Given the description of an element on the screen output the (x, y) to click on. 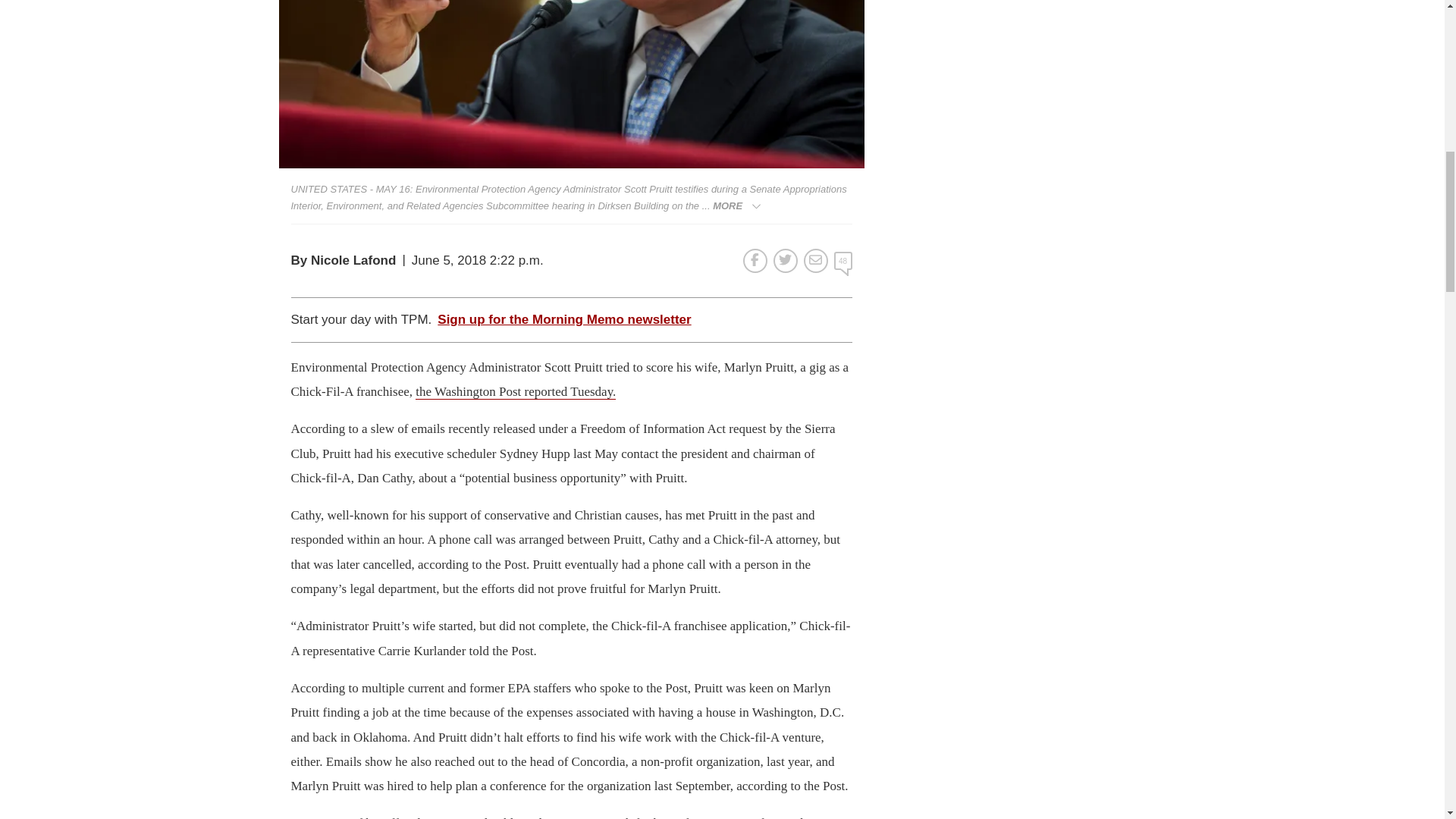
Sign up for the Morning Memo newsletter (564, 320)
48 (842, 260)
Nicole Lafond (353, 260)
the Washington Post reported Tuesday. (514, 391)
Posts by Nicole Lafond (353, 260)
